Given the description of an element on the screen output the (x, y) to click on. 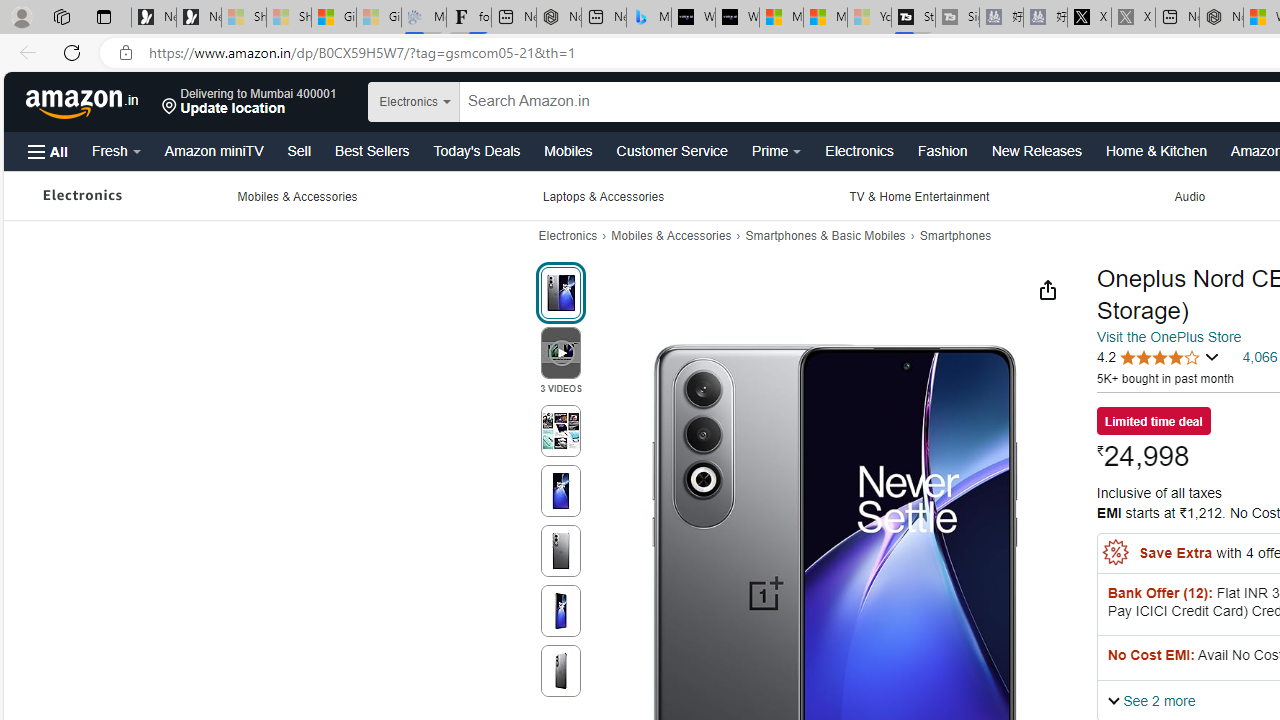
Fresh (116, 150)
Newsletter Sign Up (198, 17)
Savings indicator icon (1116, 552)
Electronics (567, 235)
Share (1047, 289)
Mobiles (568, 150)
Nordace - My Account (1220, 17)
4.2 4.2 out of 5 stars (1158, 357)
Microsoft Bing Travel - Shangri-La Hotel Bangkok (648, 17)
Smartphones & Basic Mobiles (825, 235)
